Given the description of an element on the screen output the (x, y) to click on. 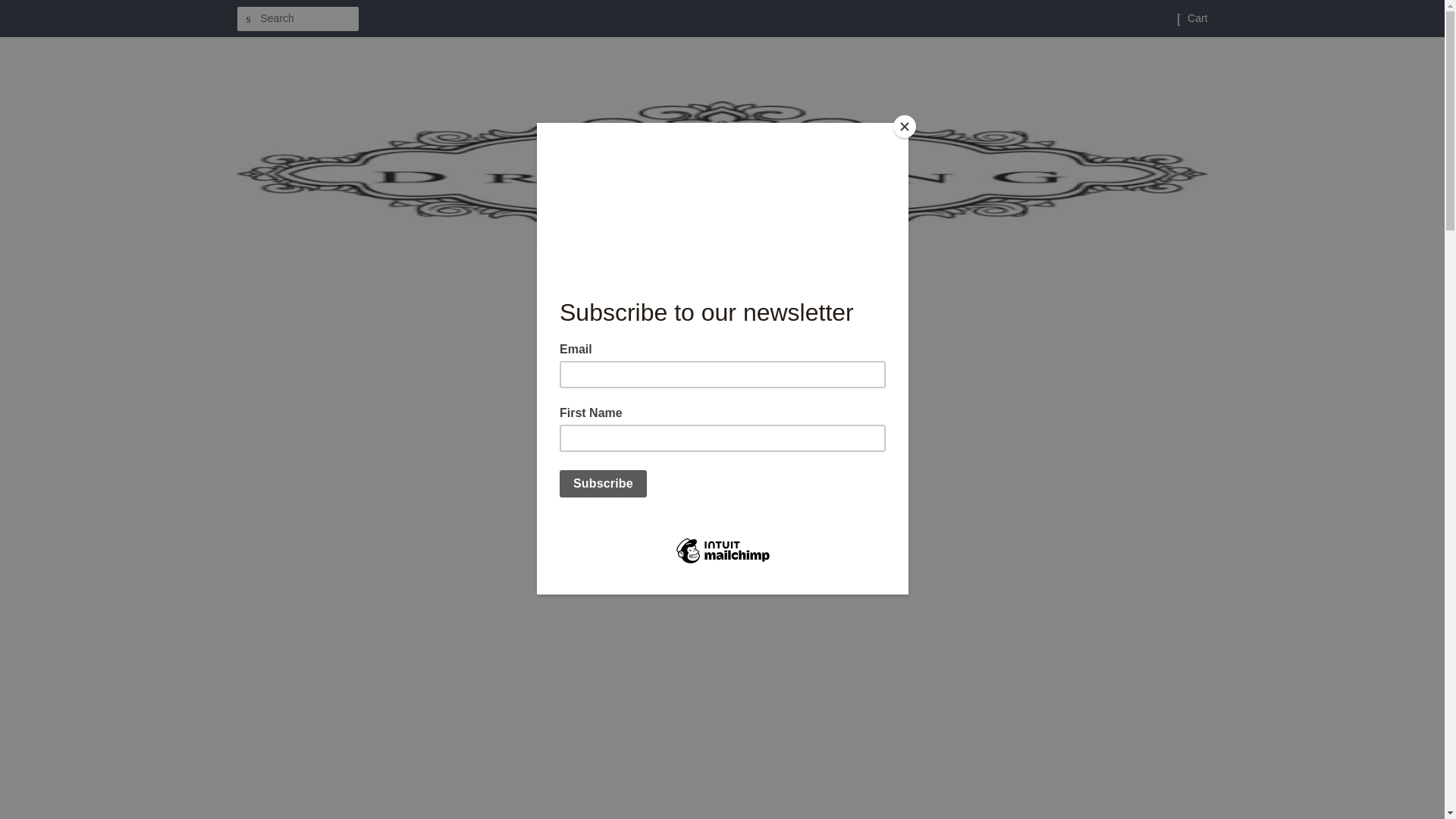
SEARCH (247, 18)
Cart (1197, 18)
